Given the description of an element on the screen output the (x, y) to click on. 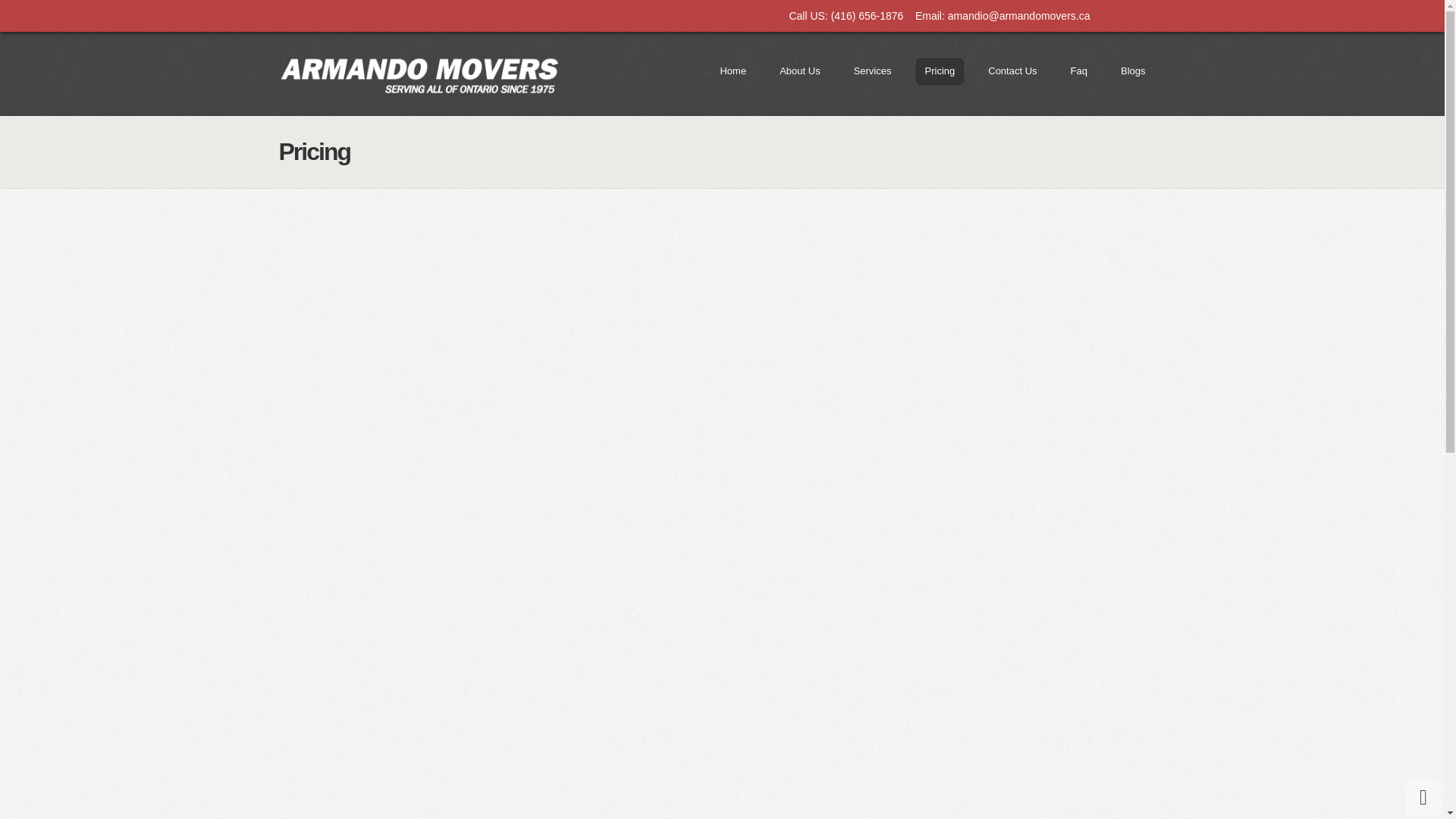
Pricing Element type: text (940, 71)
About Us Element type: text (799, 71)
Services Element type: text (872, 71)
Faq Element type: text (1078, 71)
Blogs Element type: text (1132, 71)
Home Element type: text (732, 71)
Contact Us Element type: text (1012, 71)
amandio@armandomovers.ca Element type: text (1018, 15)
Toronto Moving Company Element type: hover (419, 73)
(416) 656-1876 Element type: text (867, 15)
